Given the description of an element on the screen output the (x, y) to click on. 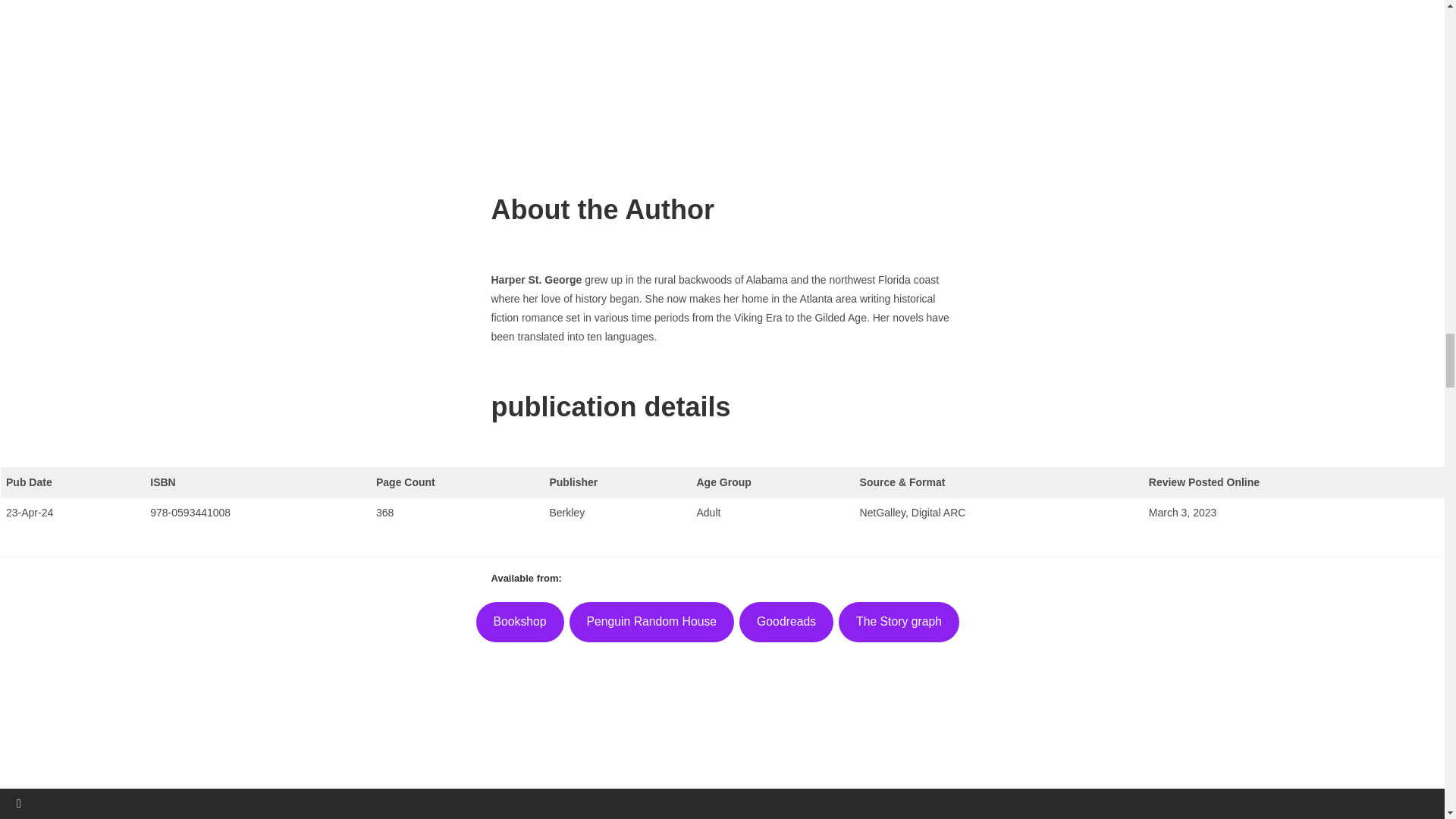
Penguin Random House (652, 621)
Bookshop (520, 621)
Goodreads (785, 621)
The Story graph (898, 621)
